Given the description of an element on the screen output the (x, y) to click on. 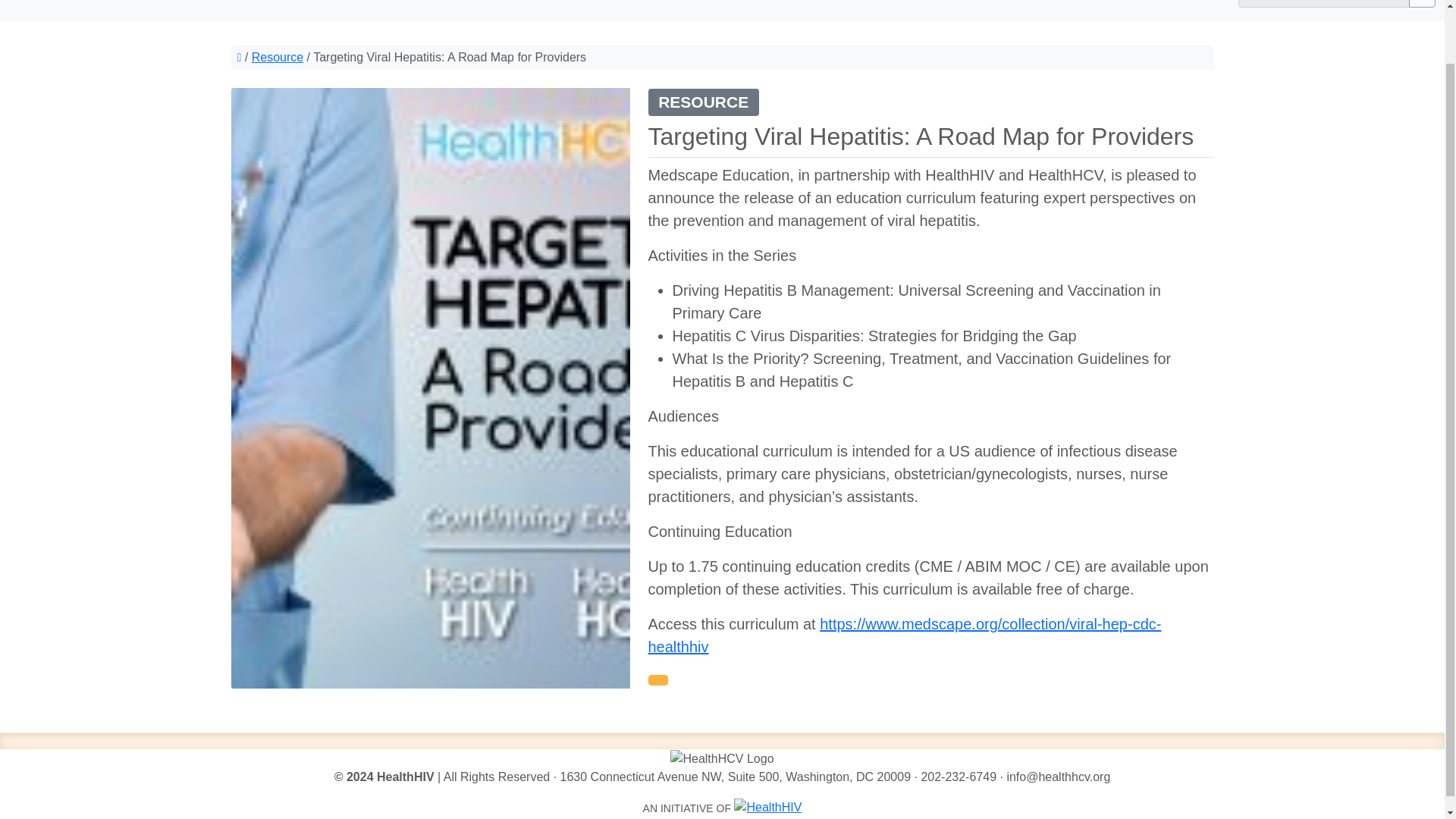
RESEARCH (1012, 4)
RESOURCES (1103, 4)
ADVOCACY (925, 4)
Resource (276, 56)
ABOUT US (1188, 4)
EDUCATION (837, 4)
